Given the description of an element on the screen output the (x, y) to click on. 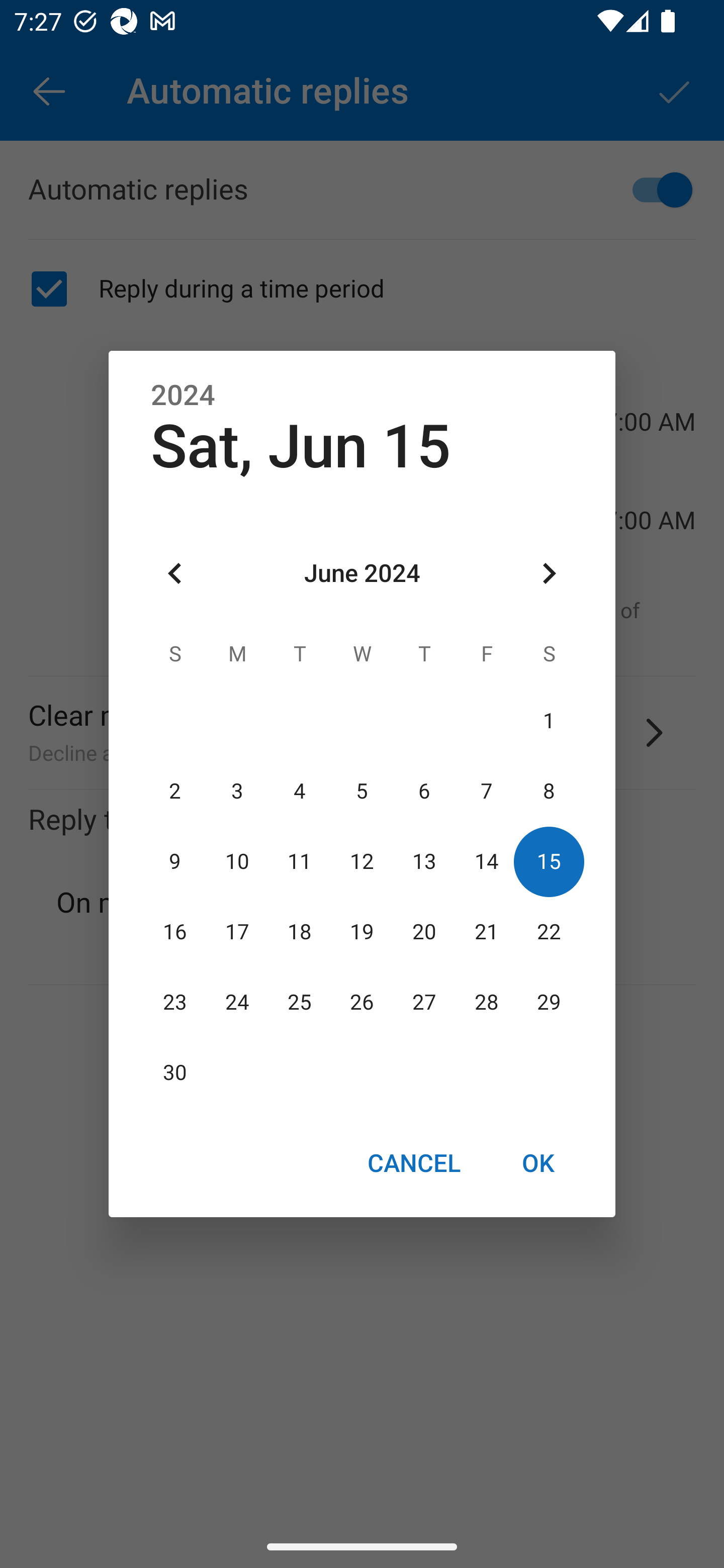
2024 (182, 395)
Sat, Jun 15 (300, 446)
Previous month (174, 573)
Next month (548, 573)
1 01 June 2024 (548, 720)
2 02 June 2024 (175, 790)
3 03 June 2024 (237, 790)
4 04 June 2024 (299, 790)
5 05 June 2024 (361, 790)
6 06 June 2024 (424, 790)
7 07 June 2024 (486, 790)
8 08 June 2024 (548, 790)
9 09 June 2024 (175, 861)
10 10 June 2024 (237, 861)
11 11 June 2024 (299, 861)
12 12 June 2024 (361, 861)
13 13 June 2024 (424, 861)
14 14 June 2024 (486, 861)
15 15 June 2024 (548, 861)
16 16 June 2024 (175, 931)
17 17 June 2024 (237, 931)
18 18 June 2024 (299, 931)
19 19 June 2024 (361, 931)
20 20 June 2024 (424, 931)
21 21 June 2024 (486, 931)
22 22 June 2024 (548, 931)
23 23 June 2024 (175, 1002)
24 24 June 2024 (237, 1002)
25 25 June 2024 (299, 1002)
26 26 June 2024 (361, 1002)
27 27 June 2024 (424, 1002)
28 28 June 2024 (486, 1002)
29 29 June 2024 (548, 1002)
30 30 June 2024 (175, 1073)
CANCEL (413, 1162)
OK (537, 1162)
